Given the description of an element on the screen output the (x, y) to click on. 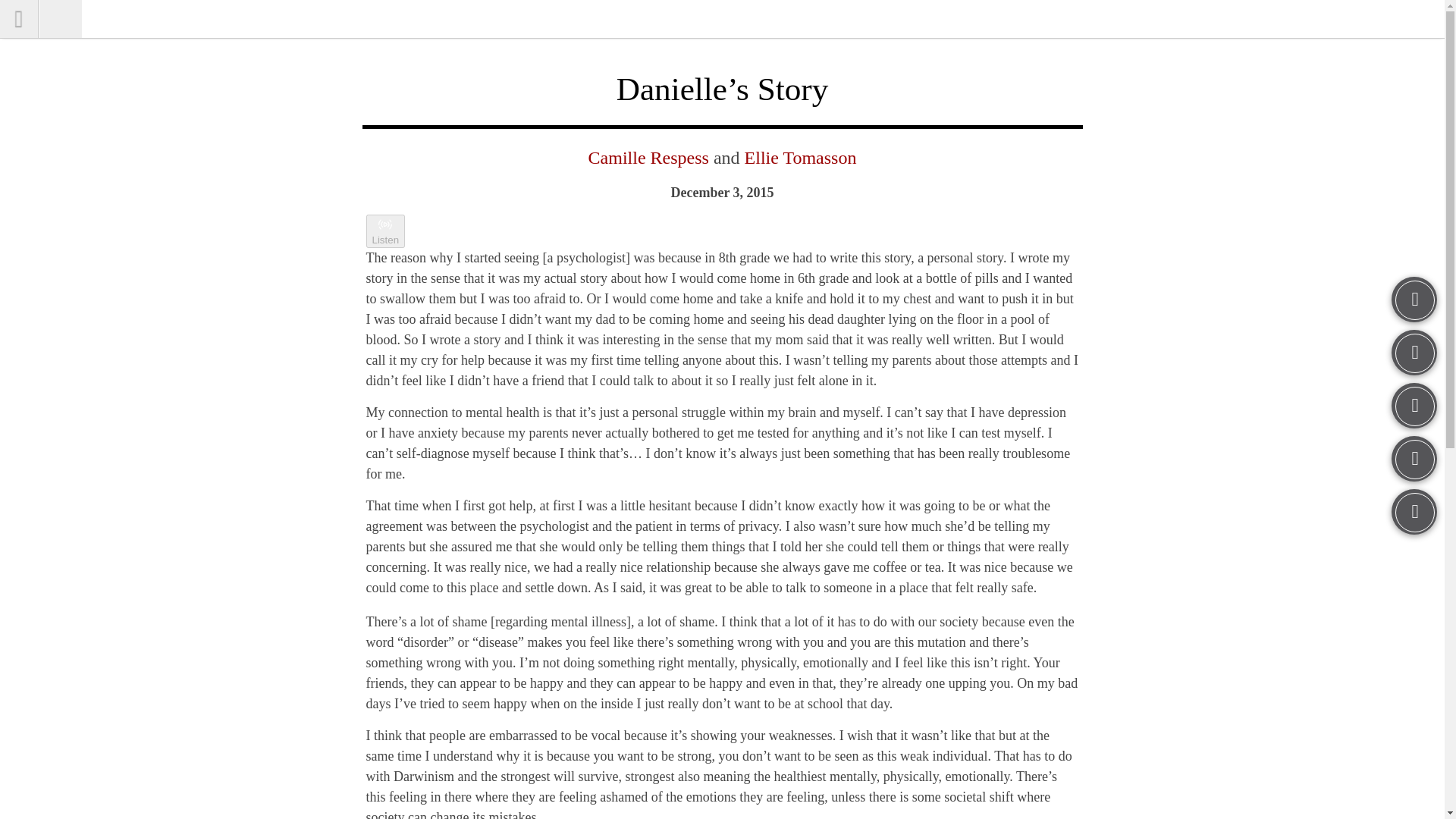
Share on Facebook (1414, 405)
Camille Respess (648, 157)
Email this Story (1414, 511)
Ellie Tomasson (800, 157)
Tweet This Story (1414, 458)
Share via Email (1414, 511)
Share on X (1414, 458)
Share on Facebook (1414, 405)
